Given the description of an element on the screen output the (x, y) to click on. 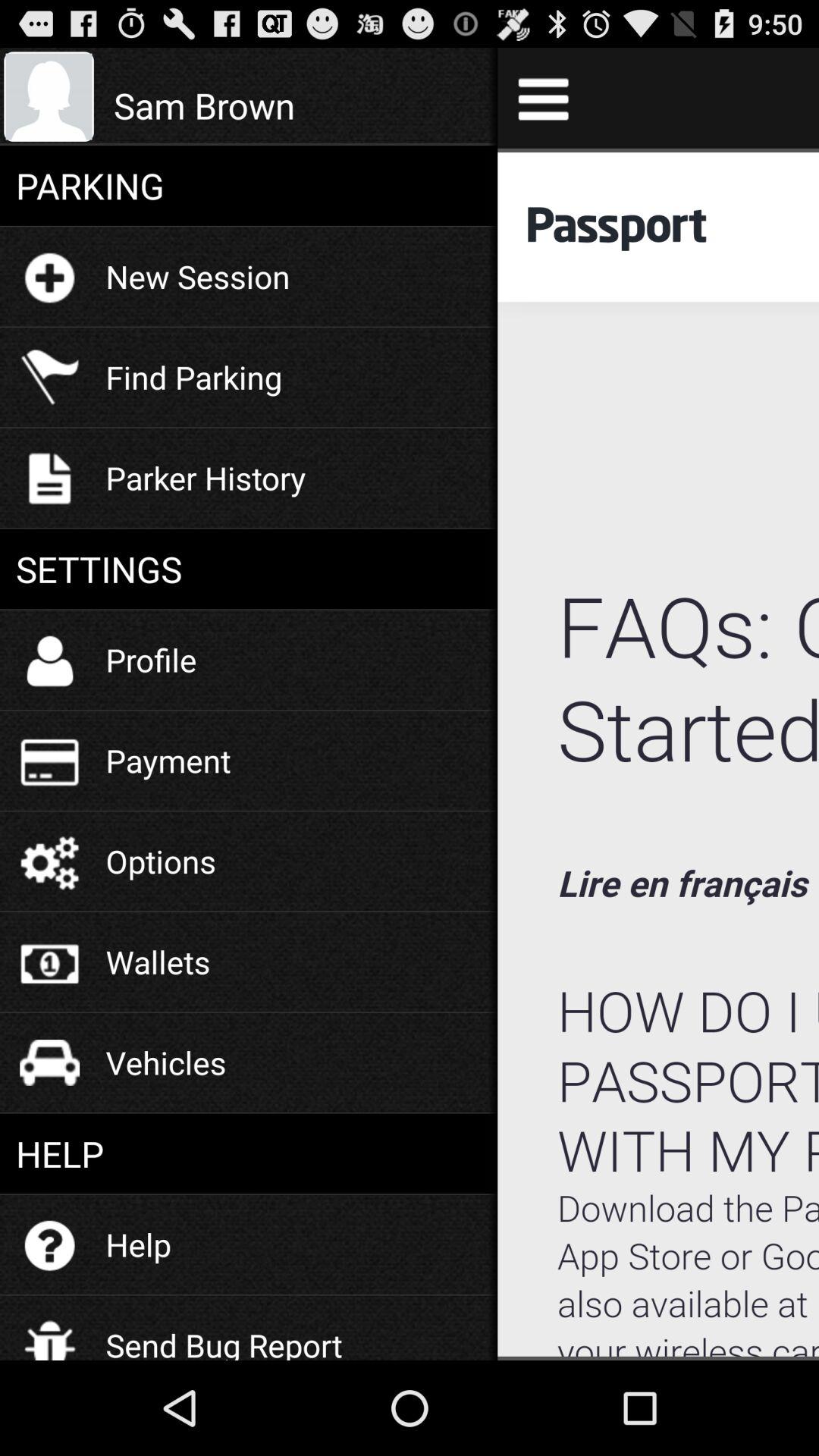
choose the icon above parking icon (297, 105)
